Given the description of an element on the screen output the (x, y) to click on. 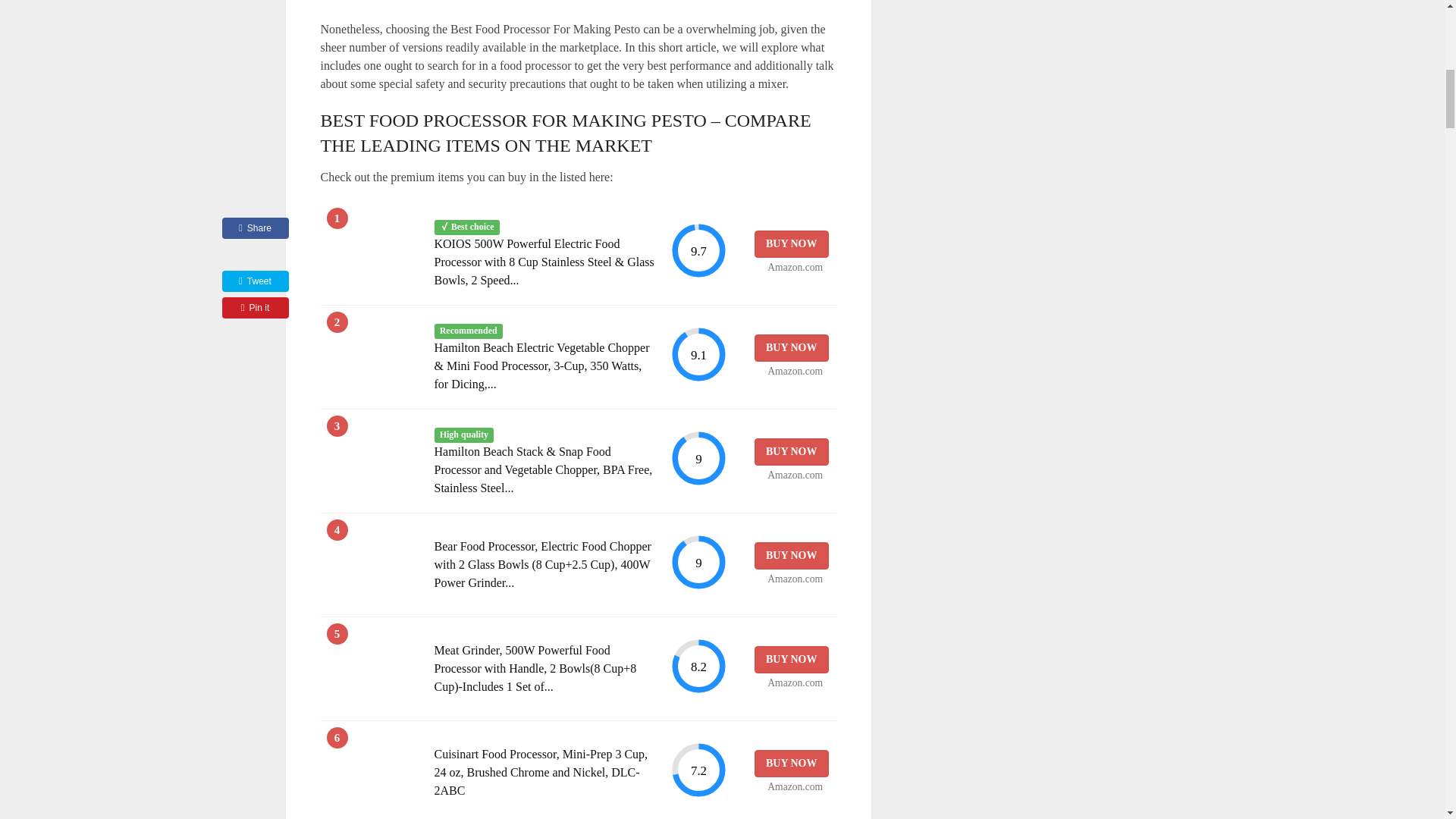
9 (697, 561)
9.7 (697, 250)
8.2 (697, 666)
9.1 (697, 354)
7.2 (697, 770)
9 (697, 457)
